Given the description of an element on the screen output the (x, y) to click on. 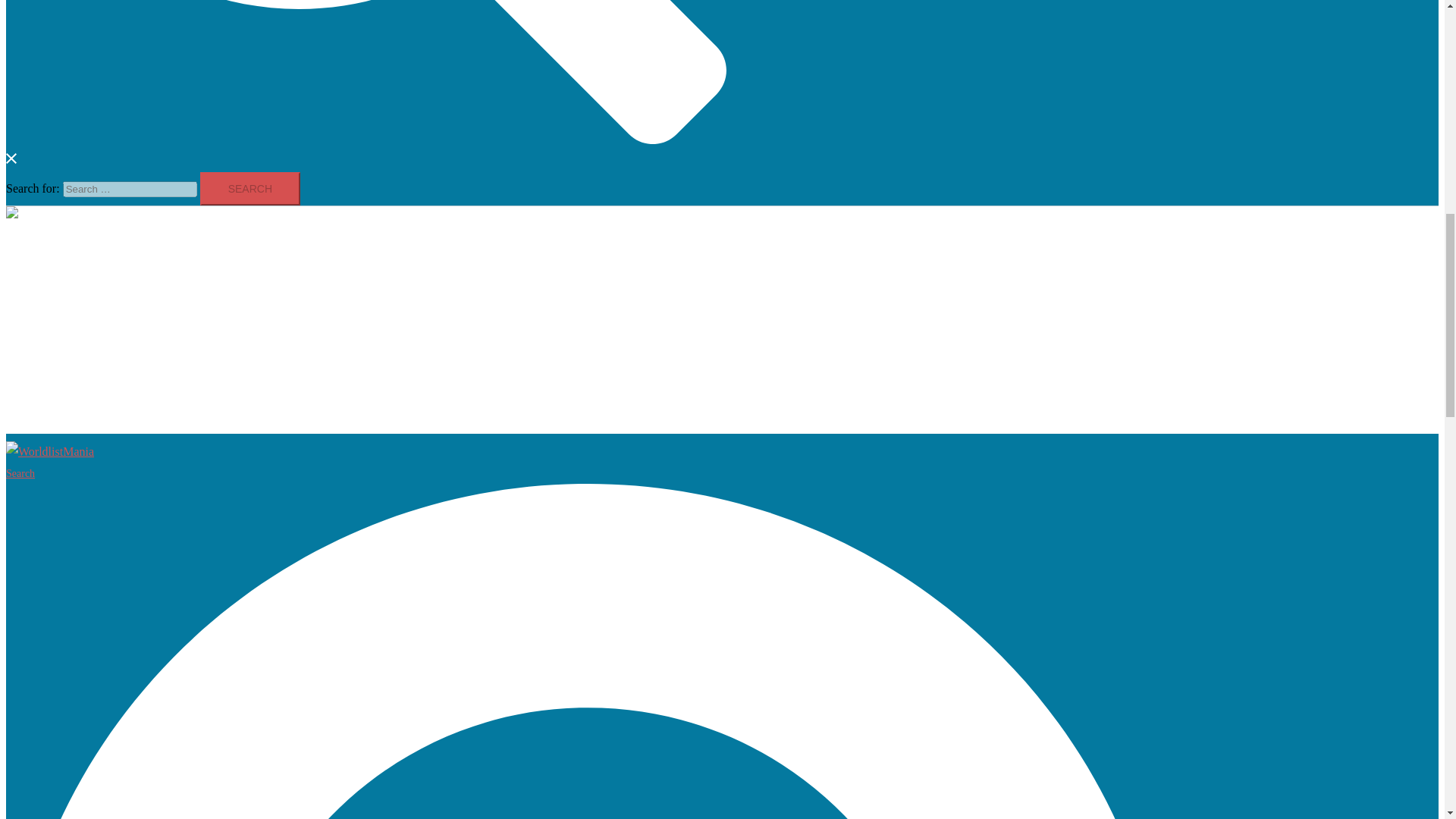
Business (56, 270)
Travel (50, 350)
Technology (63, 310)
Search (249, 188)
WorldlistMania (49, 451)
Close menu (40, 237)
Search (249, 188)
Search (249, 188)
Education (59, 370)
Search (365, 83)
More Topics (65, 411)
WorldlistMania (49, 215)
Health (51, 290)
